Given the description of an element on the screen output the (x, y) to click on. 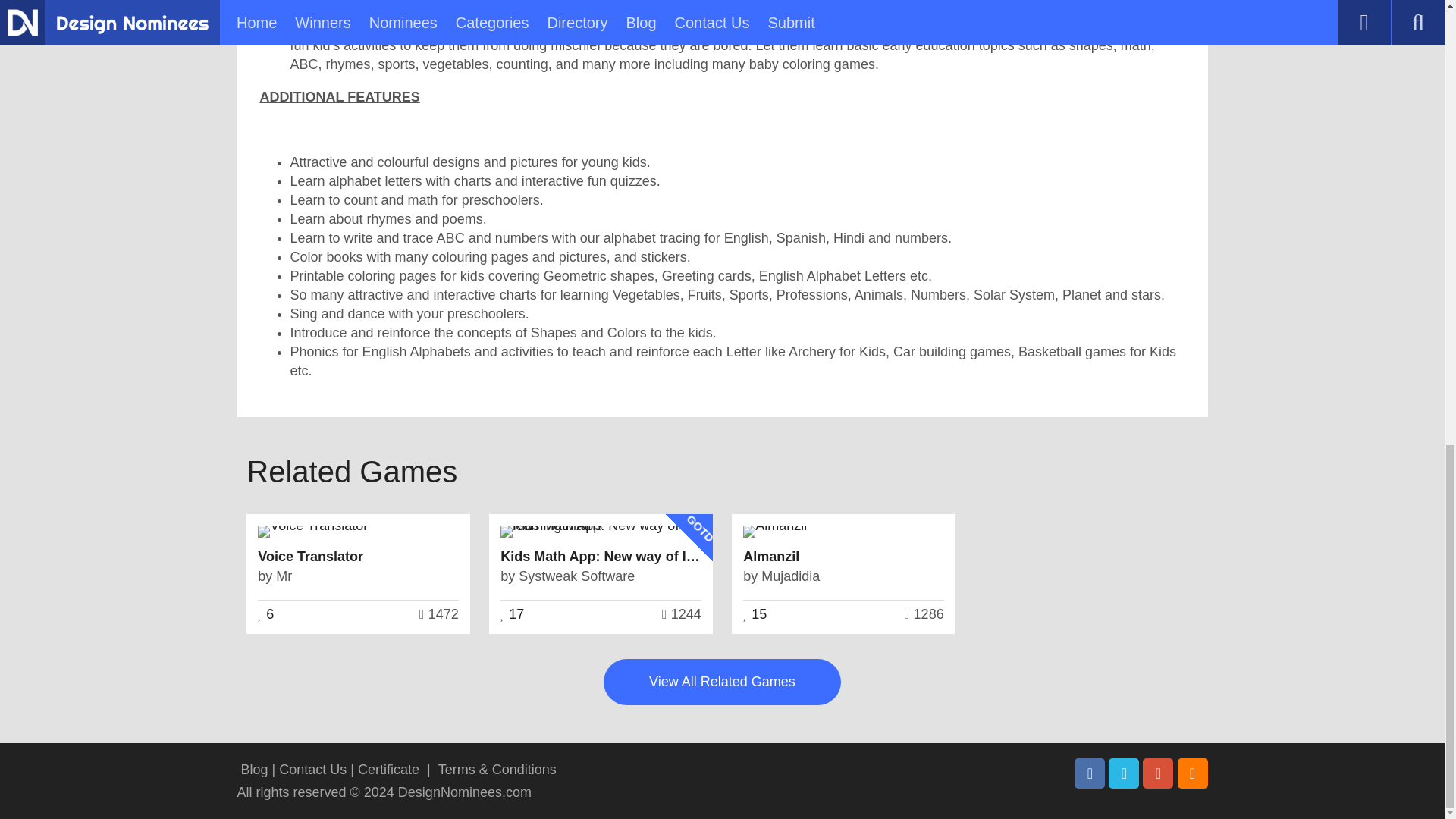
Facebook (1089, 773)
Twitter (1123, 773)
Pinterest (1157, 773)
Rss (1191, 773)
